Given the description of an element on the screen output the (x, y) to click on. 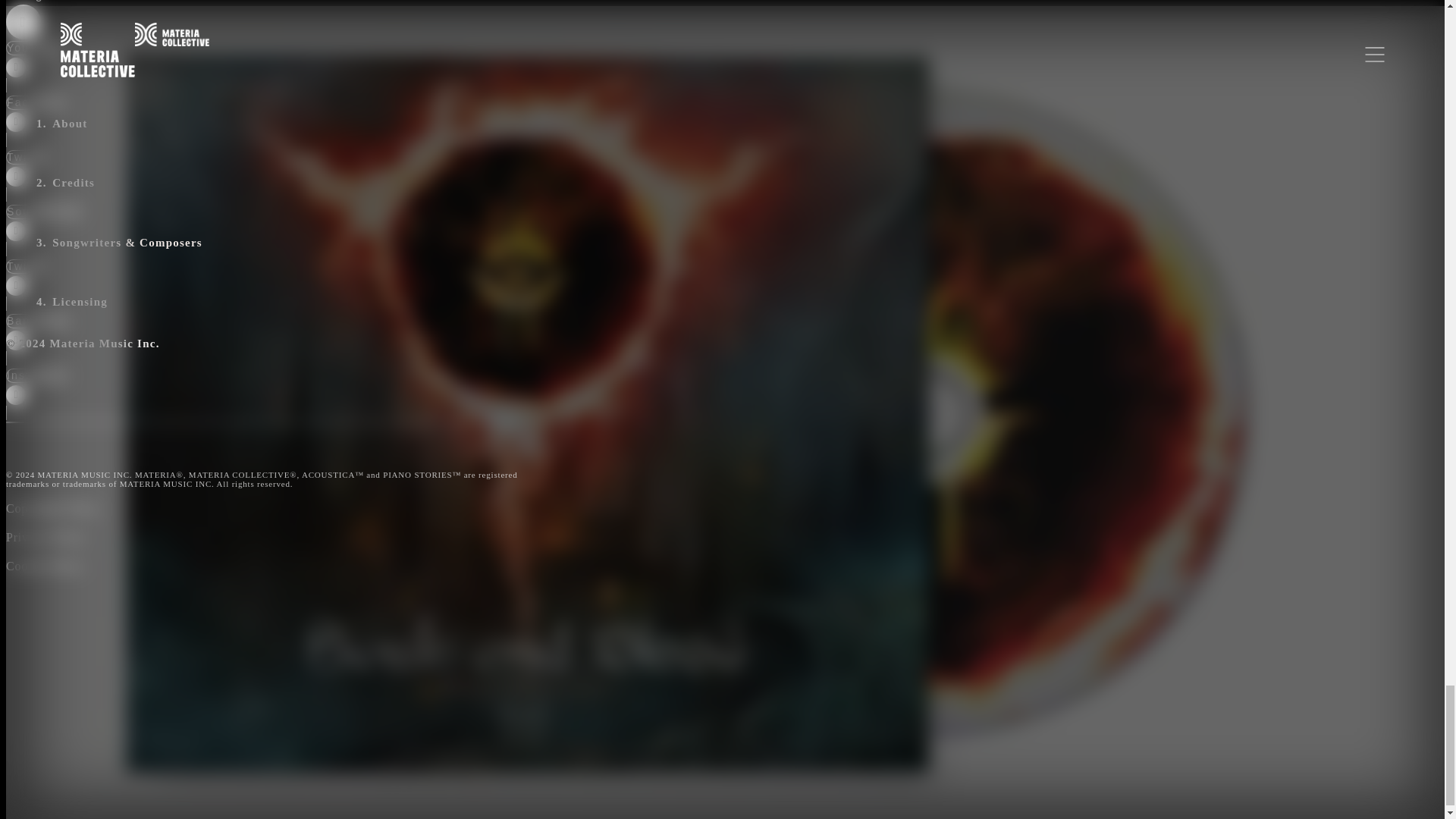
Copyright Policy (52, 508)
Facebook (91, 121)
Twitch (91, 285)
Bandcamp (91, 339)
SoundCloud (91, 230)
YouTube (91, 66)
Twitter (91, 175)
Privacy Policy (45, 536)
Instagram (91, 394)
